Given the description of an element on the screen output the (x, y) to click on. 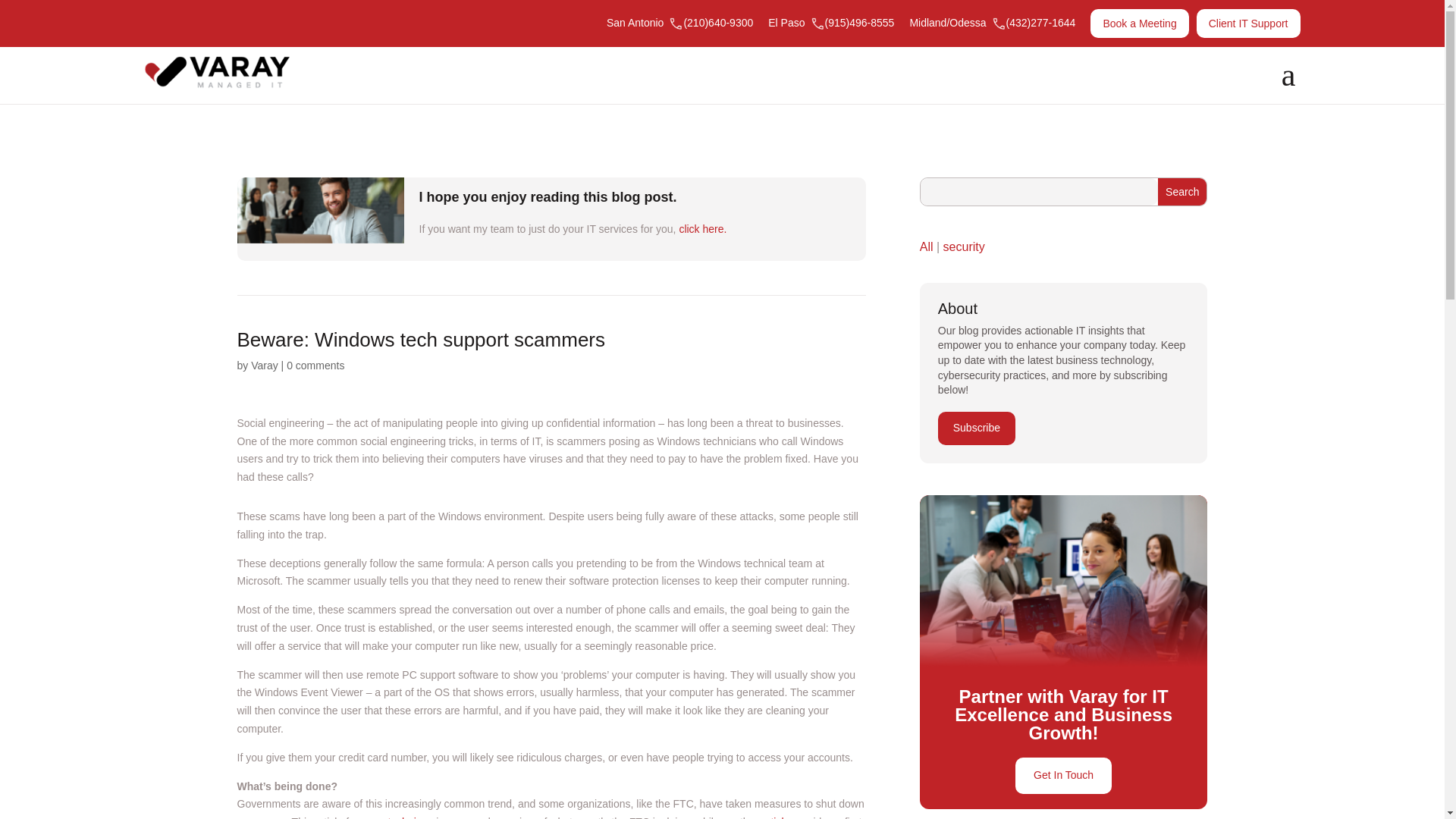
Search (1182, 191)
Posts by Varay (264, 365)
ars technica (397, 817)
Book a Meeting (1139, 23)
click here. (702, 228)
0 comments (314, 365)
Client IT Support (1248, 23)
Varay (264, 365)
Search (1182, 191)
